Given the description of an element on the screen output the (x, y) to click on. 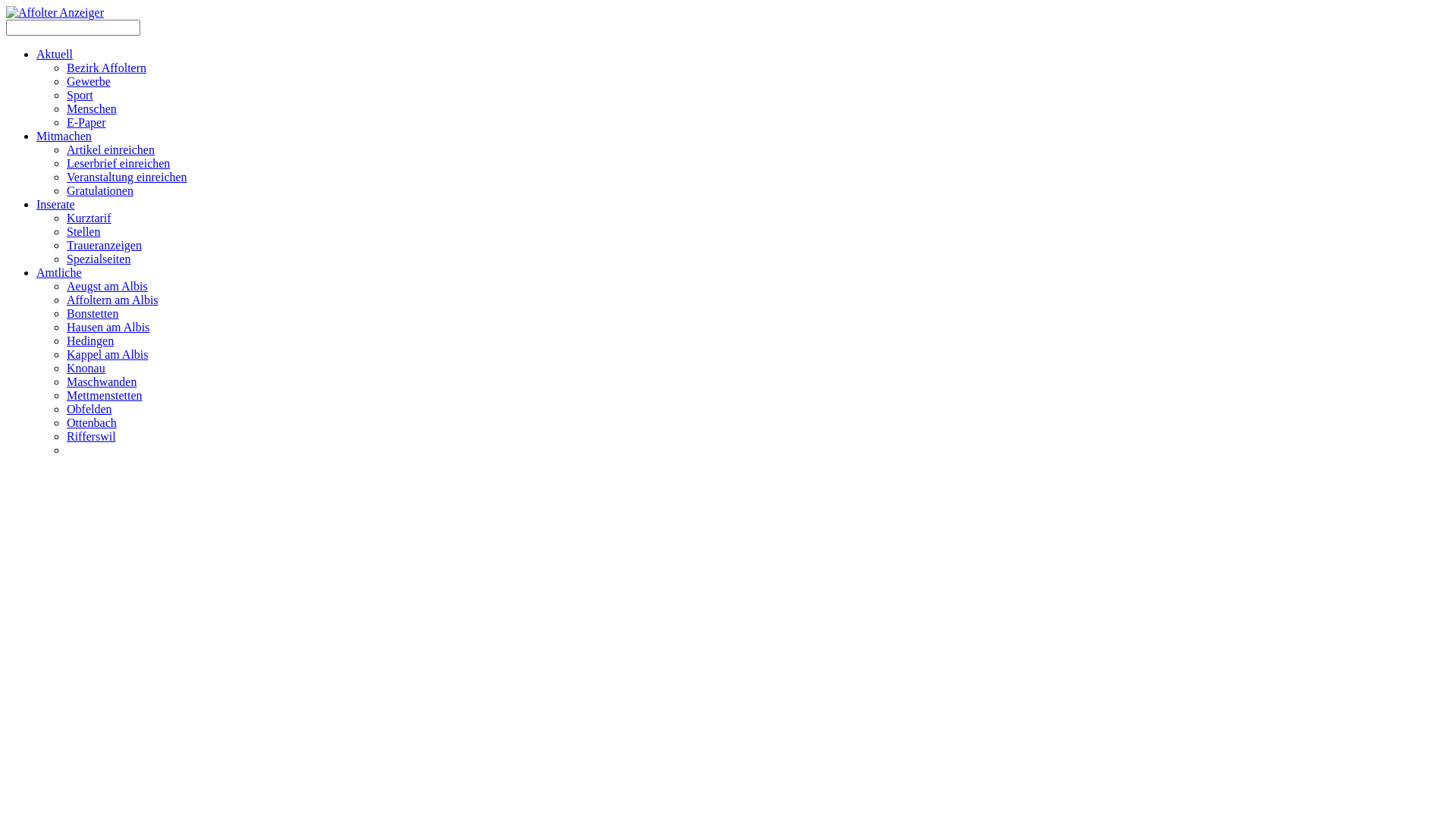
Inserate Element type: text (55, 203)
Kappel am Albis Element type: text (107, 354)
Affoltern am Albis Element type: text (112, 299)
Gewerbe Element type: text (88, 81)
Aktuell Element type: text (54, 53)
Rifferswil Element type: text (91, 435)
Hedingen Element type: text (89, 340)
E-Paper Element type: text (86, 122)
Bezirk Affoltern Element type: text (106, 67)
Knonau Element type: text (85, 367)
Bonstetten Element type: text (92, 313)
Leserbrief einreichen Element type: text (117, 162)
Obfelden Element type: text (89, 408)
Kurztarif Element type: text (88, 217)
Mitmachen Element type: text (63, 135)
Menschen Element type: text (91, 108)
Ottenbach Element type: text (91, 422)
Veranstaltung einreichen Element type: text (126, 176)
Aeugst am Albis Element type: text (106, 285)
Stellen Element type: text (83, 231)
Mettmenstetten Element type: text (104, 395)
Gratulationen Element type: text (99, 190)
Amtliche Element type: text (58, 272)
Hausen am Albis Element type: text (107, 326)
Traueranzeigen Element type: text (103, 244)
Spezialseiten Element type: text (98, 258)
Maschwanden Element type: text (101, 381)
Sport Element type: text (79, 94)
Artikel einreichen Element type: text (110, 149)
